Given the description of an element on the screen output the (x, y) to click on. 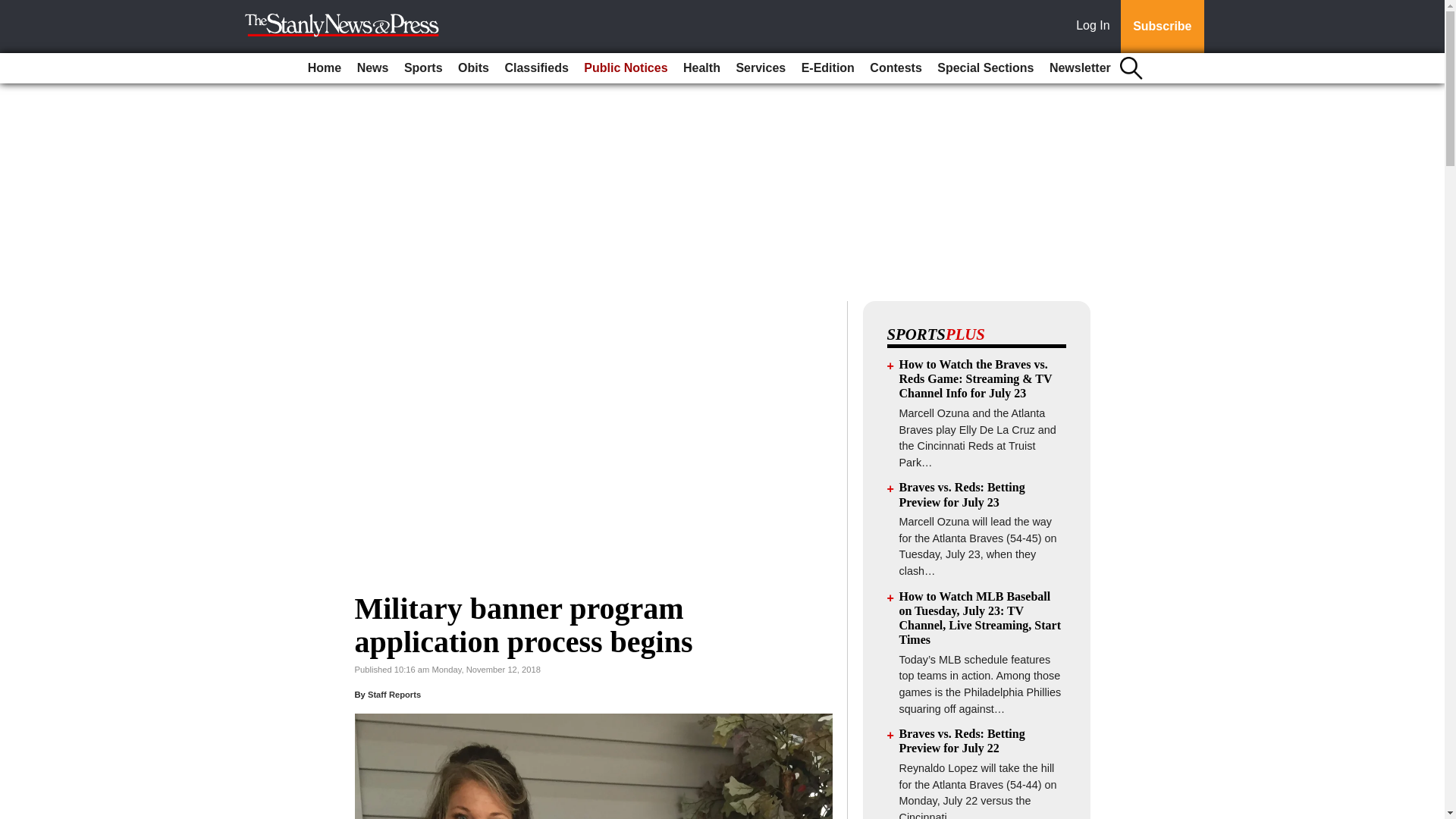
Newsletter (1079, 68)
Subscribe (1162, 26)
News (372, 68)
Staff Reports (394, 694)
Contests (895, 68)
Classifieds (535, 68)
E-Edition (827, 68)
Services (760, 68)
Sports (422, 68)
Obits (473, 68)
Health (701, 68)
Log In (1095, 26)
Public Notices (625, 68)
Go (13, 9)
Home (324, 68)
